Given the description of an element on the screen output the (x, y) to click on. 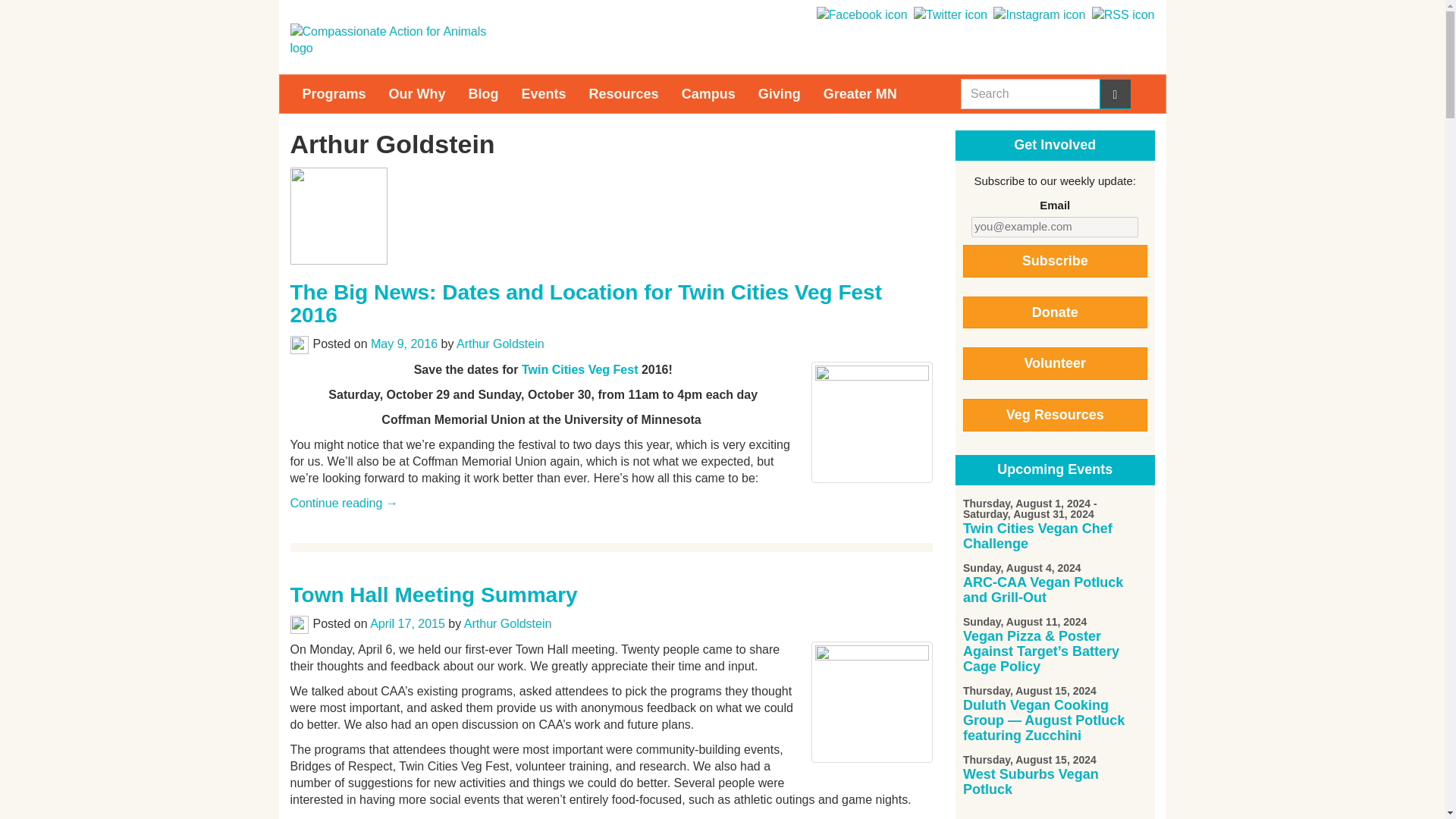
Blog (484, 94)
Our Why (417, 94)
Campus (707, 94)
Giving (779, 94)
Subscribe to our news feed (1121, 13)
3:21 pm (407, 623)
Events (544, 94)
Follow us on Twitter (949, 13)
Town Hall Meeting Summary (432, 594)
Follow us on Facebook (860, 13)
View all posts by Arthur Goldstein (507, 623)
Arthur Goldstein (500, 343)
Follow us on Instagram (1037, 13)
